Given the description of an element on the screen output the (x, y) to click on. 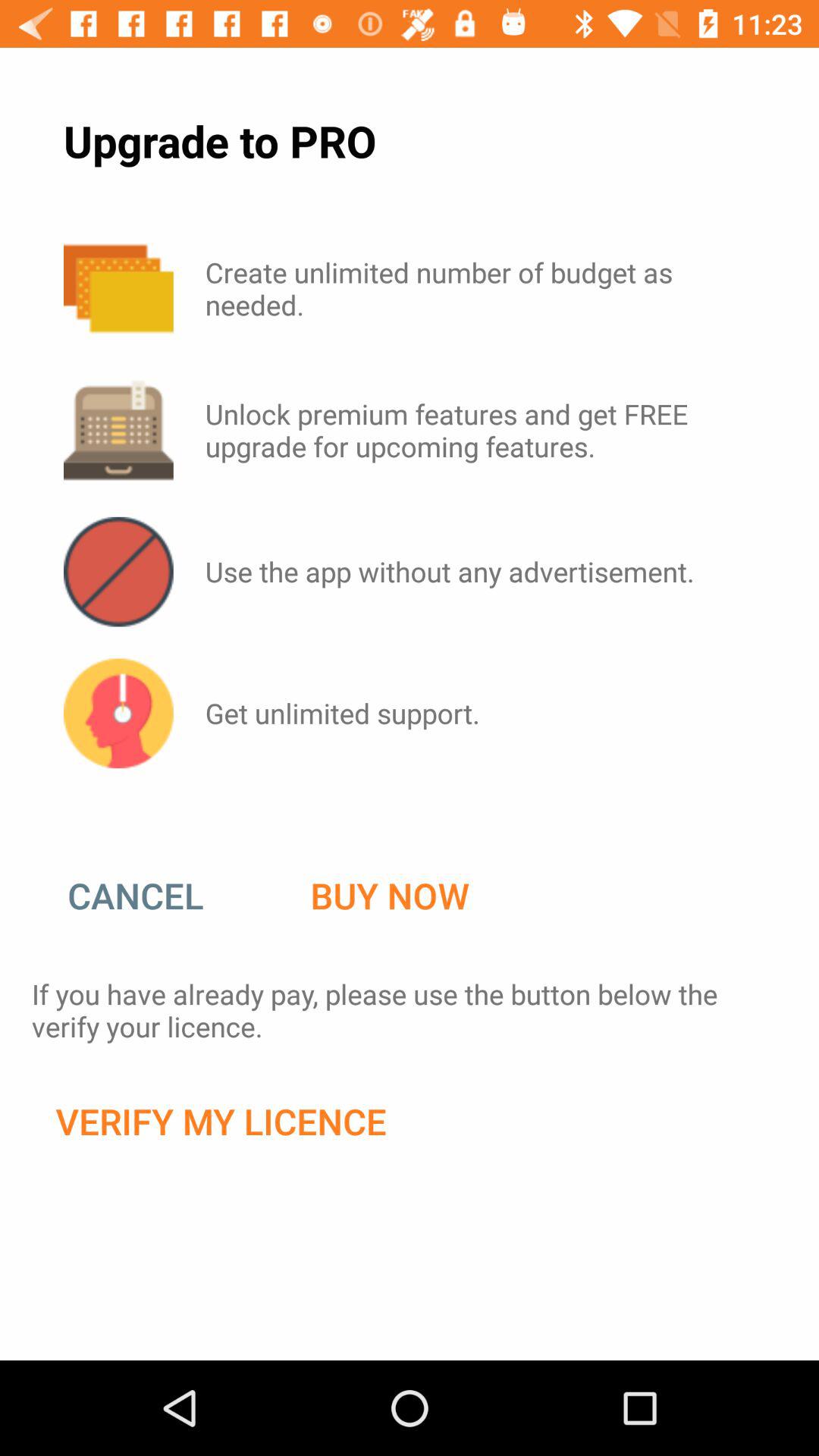
tap item below the get unlimited support. icon (389, 895)
